Given the description of an element on the screen output the (x, y) to click on. 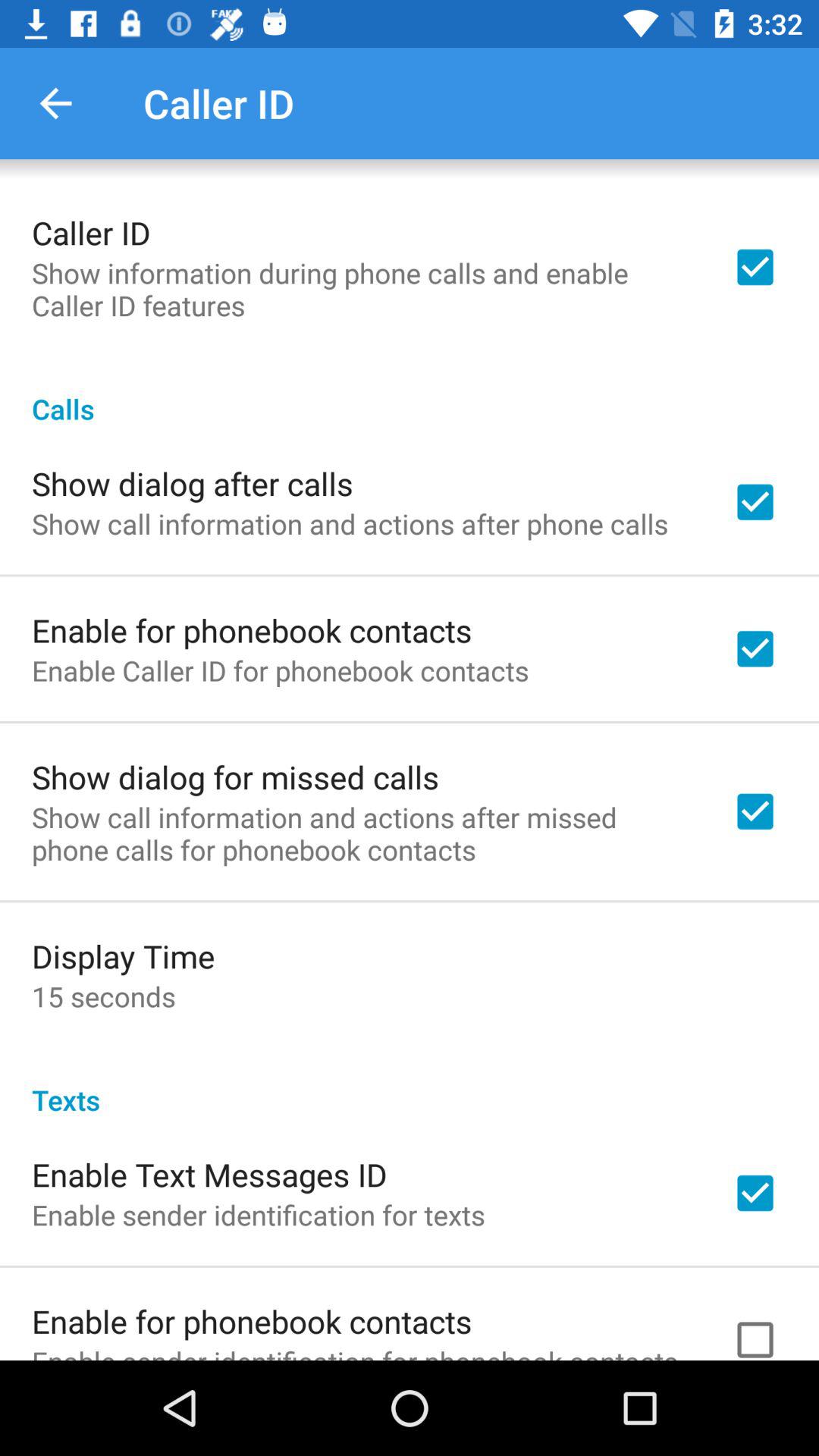
click item above texts (103, 996)
